Given the description of an element on the screen output the (x, y) to click on. 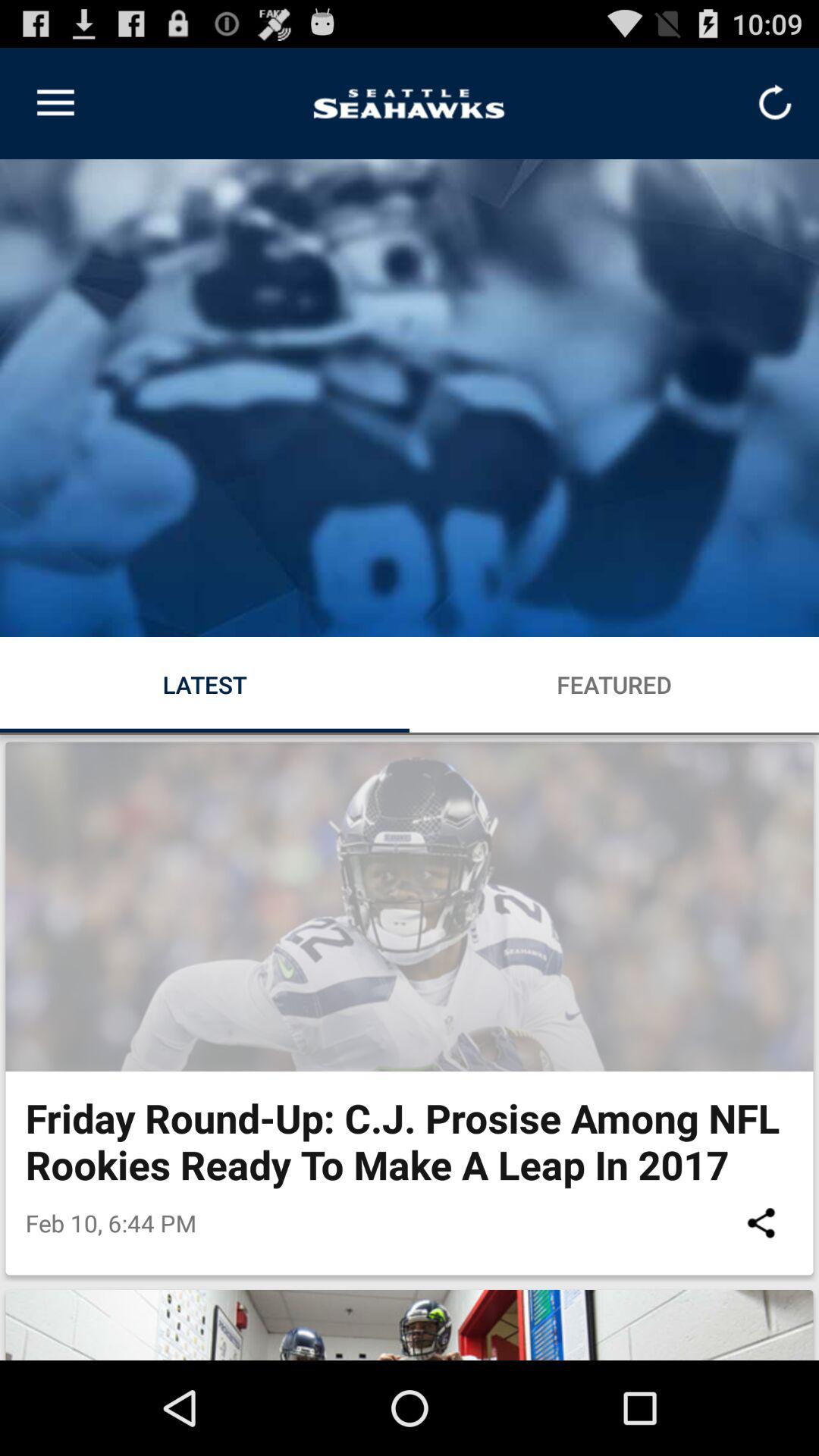
launch item below friday round up (761, 1222)
